Given the description of an element on the screen output the (x, y) to click on. 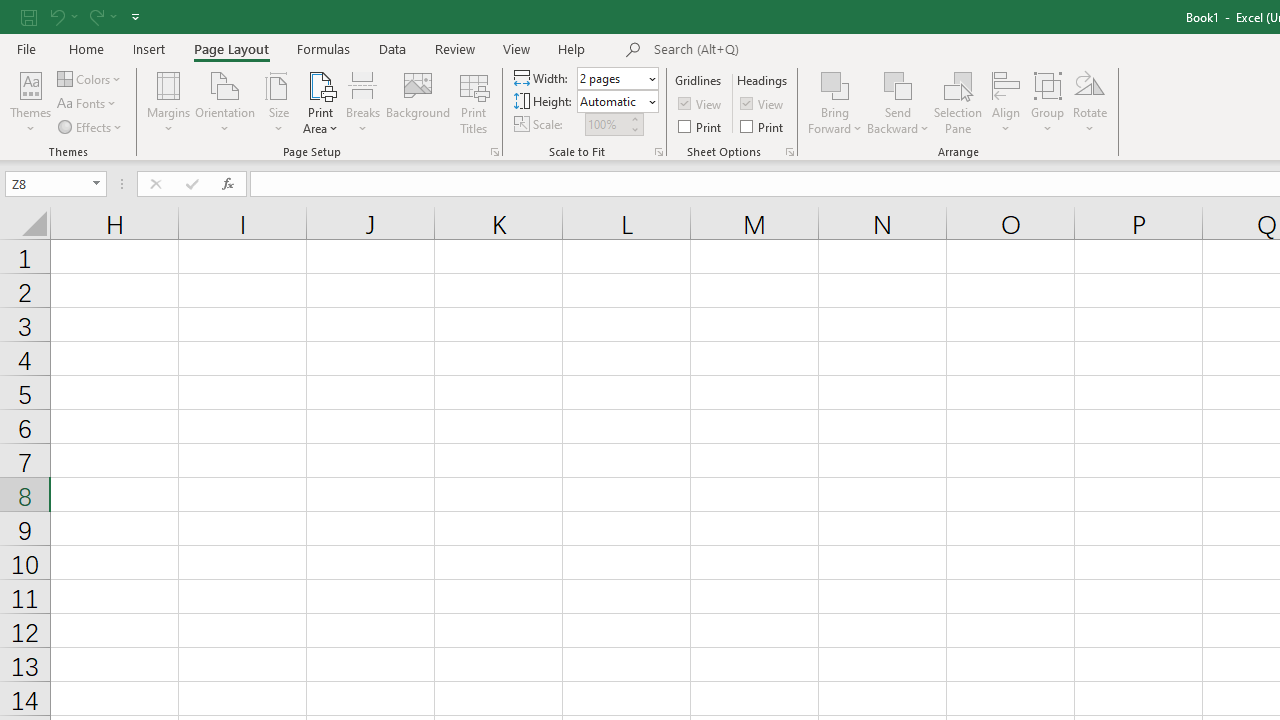
Print (763, 126)
Rotate (1089, 102)
